Given the description of an element on the screen output the (x, y) to click on. 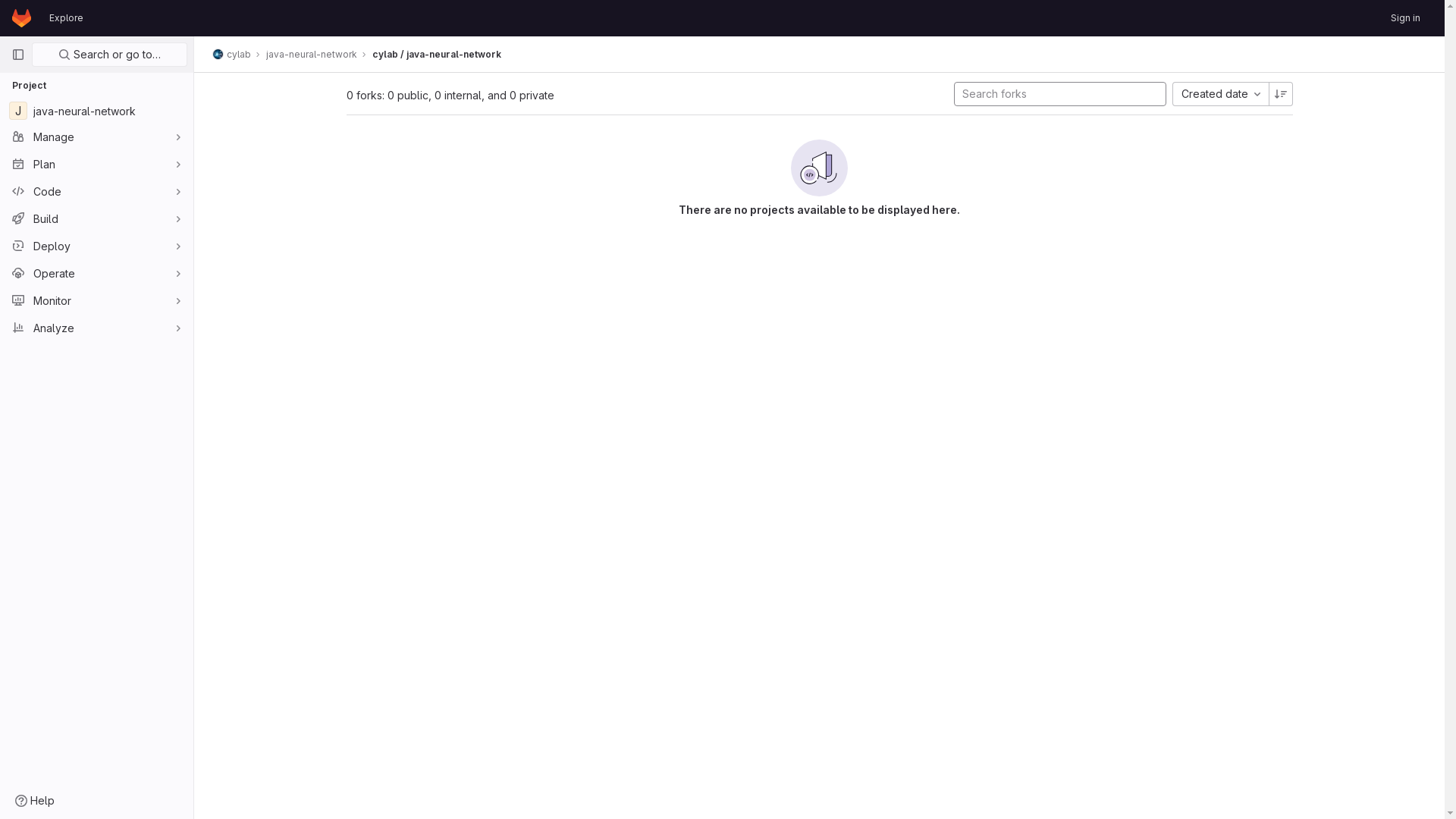
cylab / java-neural-network Element type: text (436, 54)
Help Element type: text (34, 800)
Build Element type: text (96, 218)
Operate Element type: text (96, 272)
Deploy Element type: text (96, 245)
java-neural-network Element type: text (311, 54)
J
java-neural-network Element type: text (96, 110)
Homepage Element type: hover (21, 18)
Sign in Element type: text (1405, 18)
cylab Element type: text (231, 54)
Plan Element type: text (96, 163)
Sort direction Element type: hover (1279, 93)
Created date Element type: text (1220, 93)
Skip to content Element type: text (11, 18)
Monitor Element type: text (96, 300)
Manage Element type: text (96, 136)
Analyze Element type: text (96, 327)
Code Element type: text (96, 190)
Explore Element type: text (66, 18)
